Given the description of an element on the screen output the (x, y) to click on. 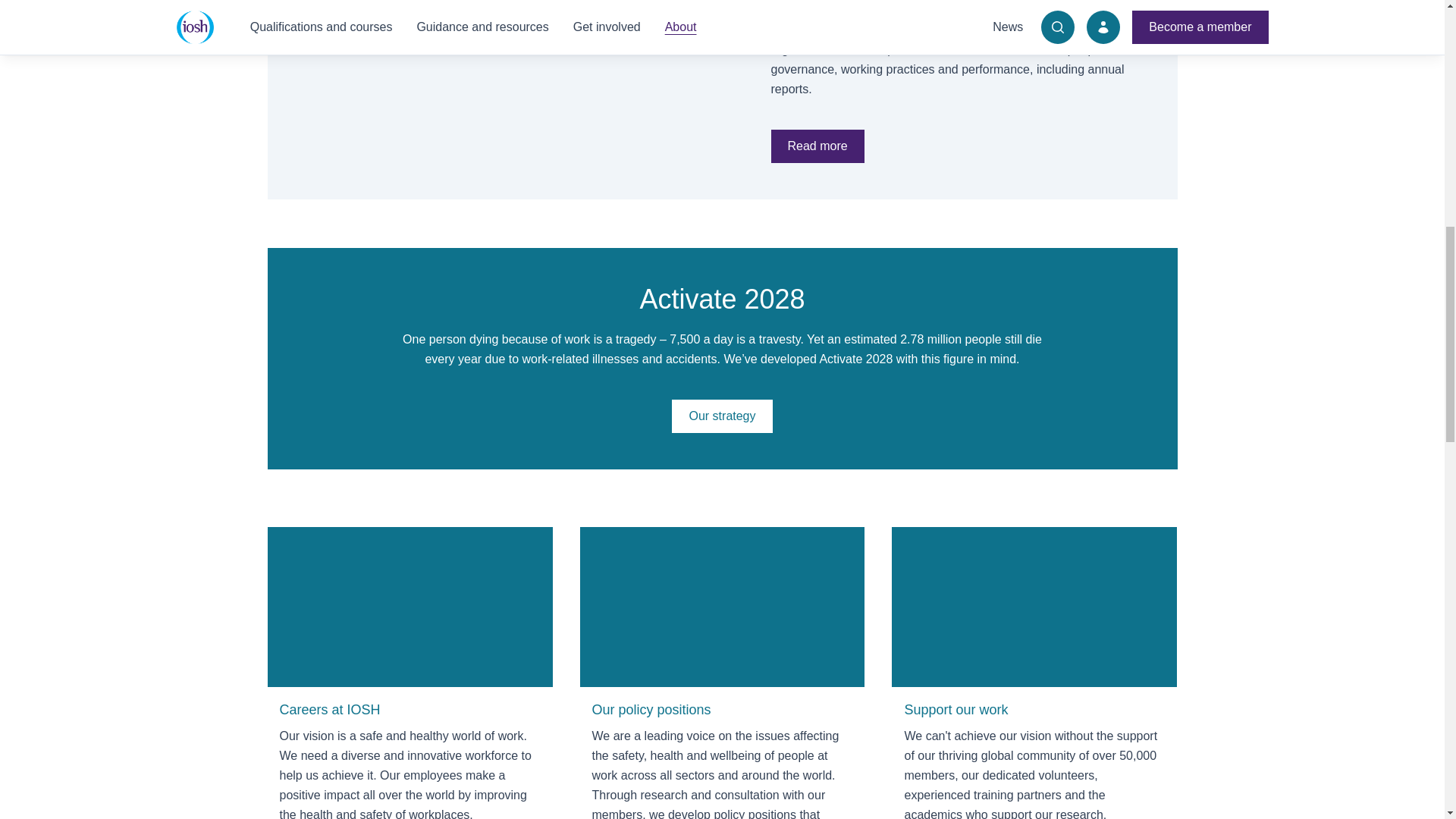
Our policy positions (721, 673)
Support our work (1033, 673)
Read more (816, 145)
Careers at IOSH (410, 673)
Our strategy (721, 416)
